Given the description of an element on the screen output the (x, y) to click on. 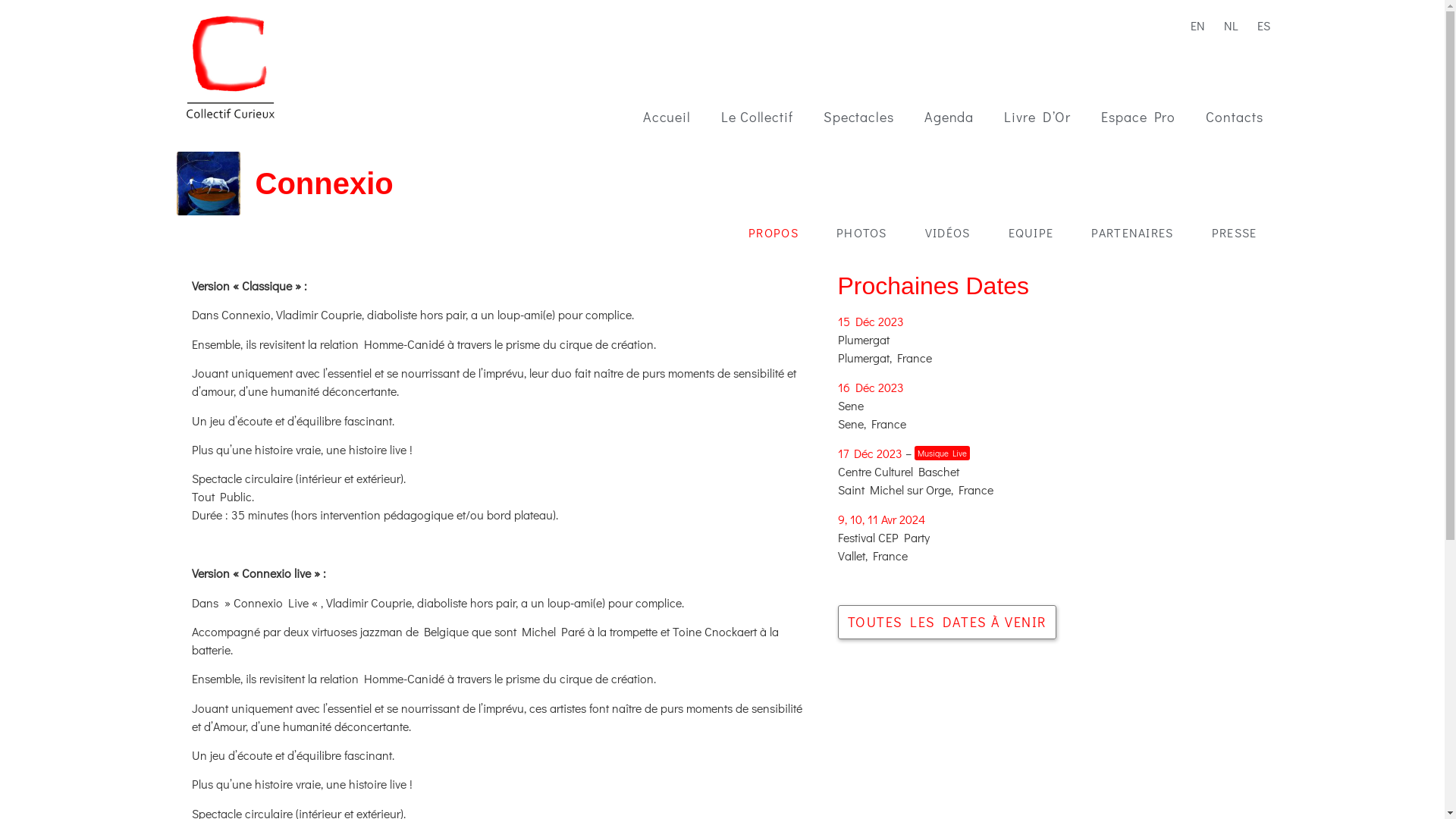
Espace Pro Element type: text (1137, 116)
Spectacles Element type: text (858, 116)
Agenda Element type: text (948, 116)
EN Element type: text (1193, 24)
Contacts Element type: text (1233, 116)
ES Element type: text (1259, 24)
Accueil Element type: text (666, 116)
9, 10, 11 Avr 2024 Element type: text (880, 519)
NL Element type: text (1227, 24)
Le Collectif Element type: text (757, 116)
